Given the description of an element on the screen output the (x, y) to click on. 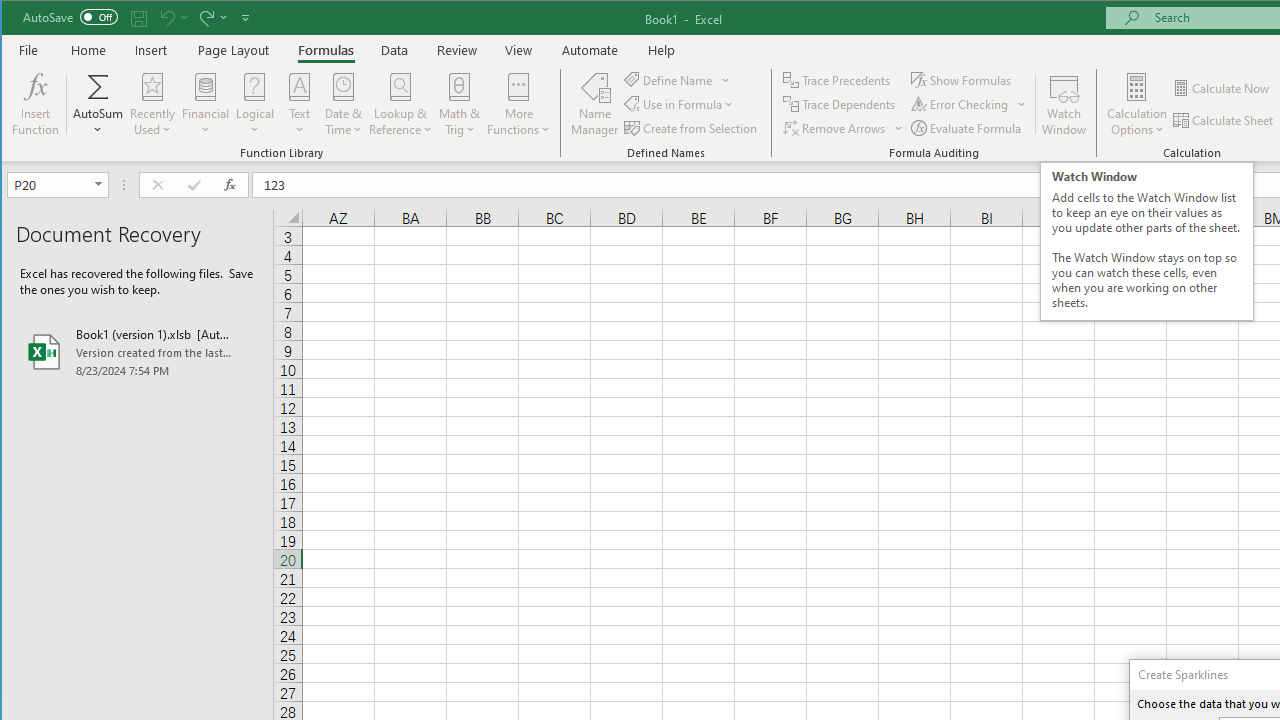
Watch Window (1064, 104)
Trace Dependents (840, 103)
Show Formulas (962, 80)
